Given the description of an element on the screen output the (x, y) to click on. 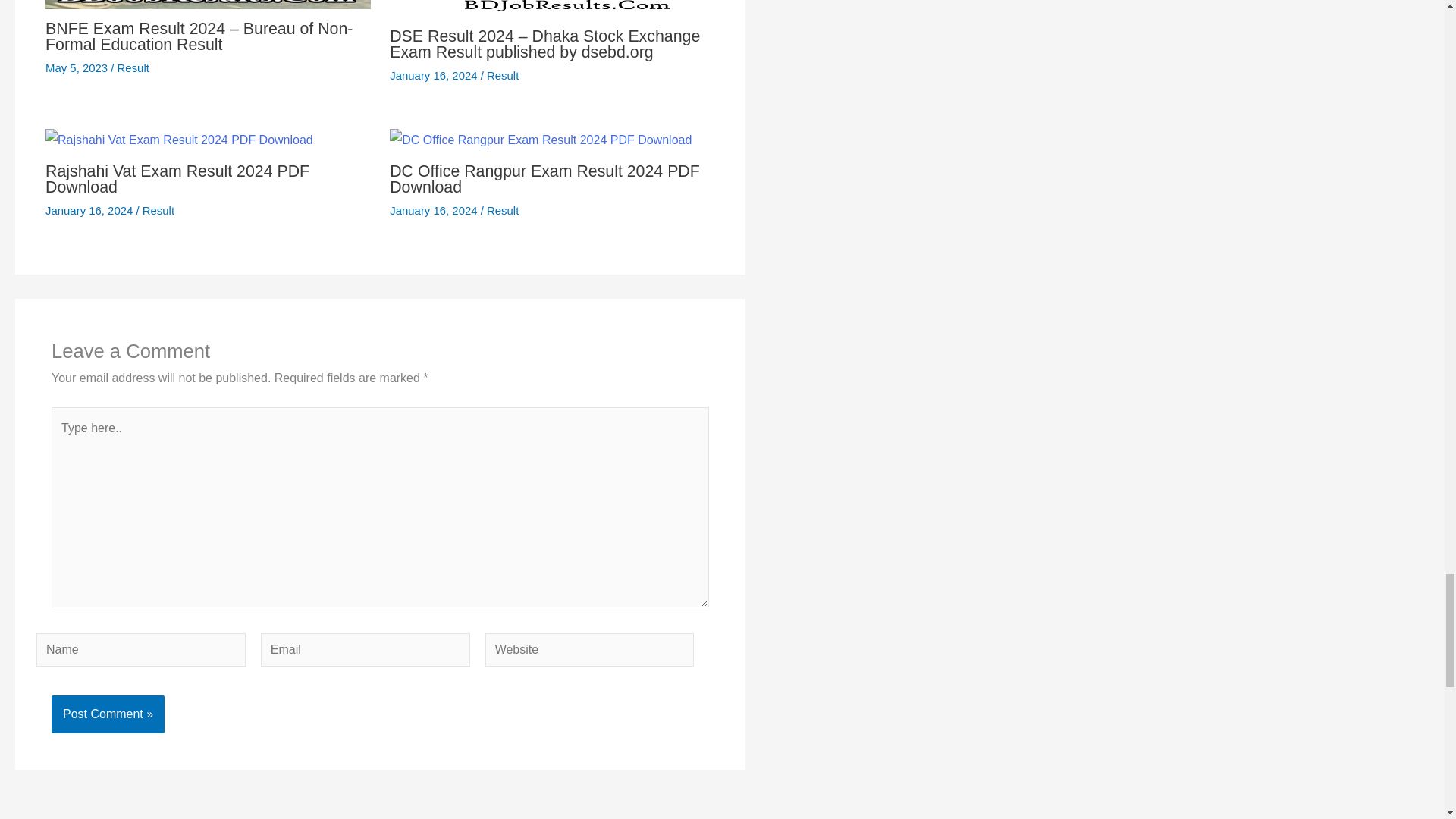
Result (133, 67)
Result (502, 74)
